Given the description of an element on the screen output the (x, y) to click on. 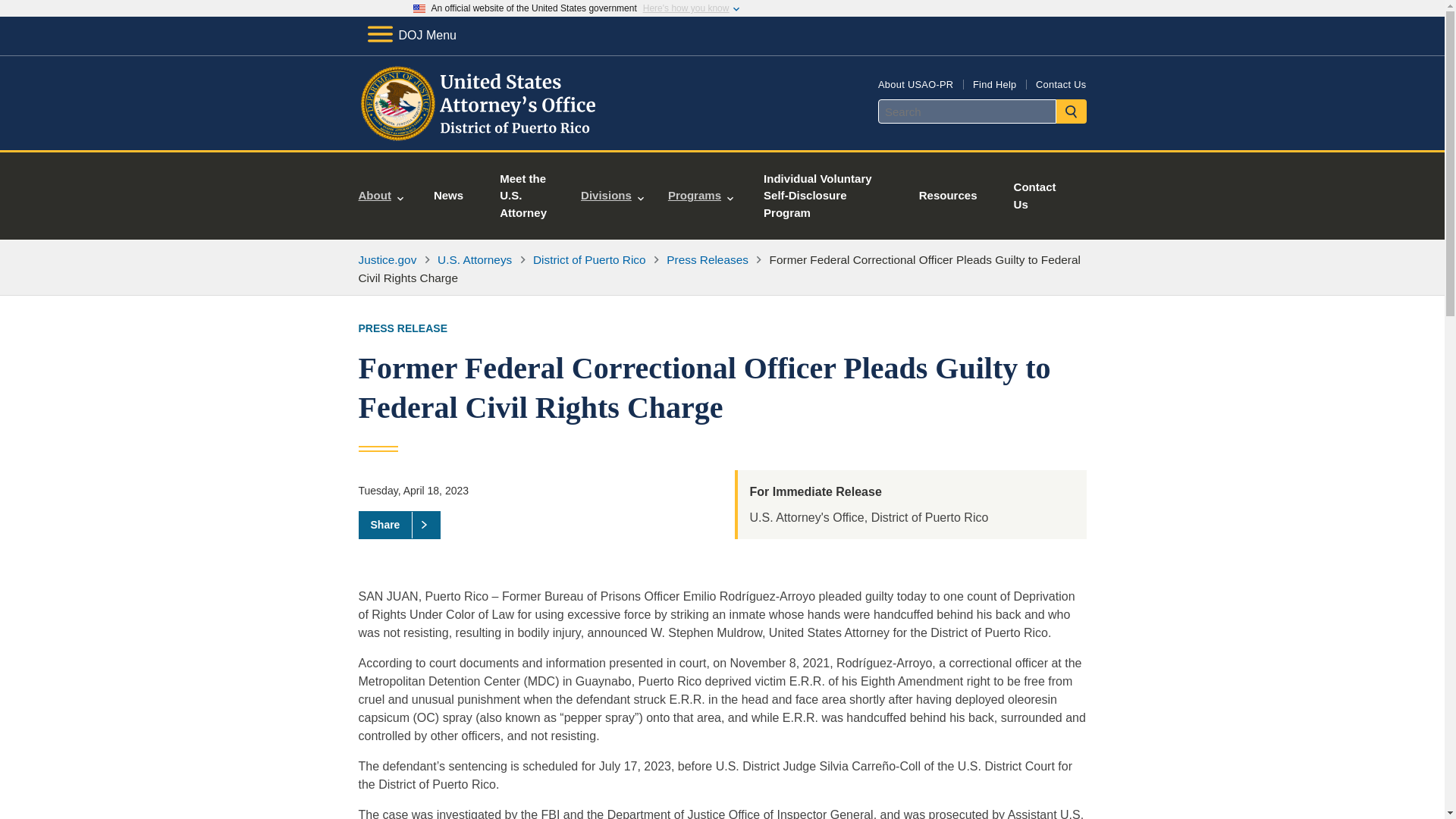
Home (481, 132)
Press Releases (707, 259)
U.S. Attorneys (475, 259)
District of Puerto Rico (589, 259)
About USAO-PR (915, 84)
DOJ Menu (411, 35)
Justice.gov (387, 259)
Share (398, 524)
Resources (948, 196)
Individual Voluntary Self-Disclosure Program (823, 196)
Programs (700, 196)
Meet the U.S. Attorney (525, 196)
Divisions (612, 196)
Here's how you know (686, 8)
Find Help (994, 84)
